Given the description of an element on the screen output the (x, y) to click on. 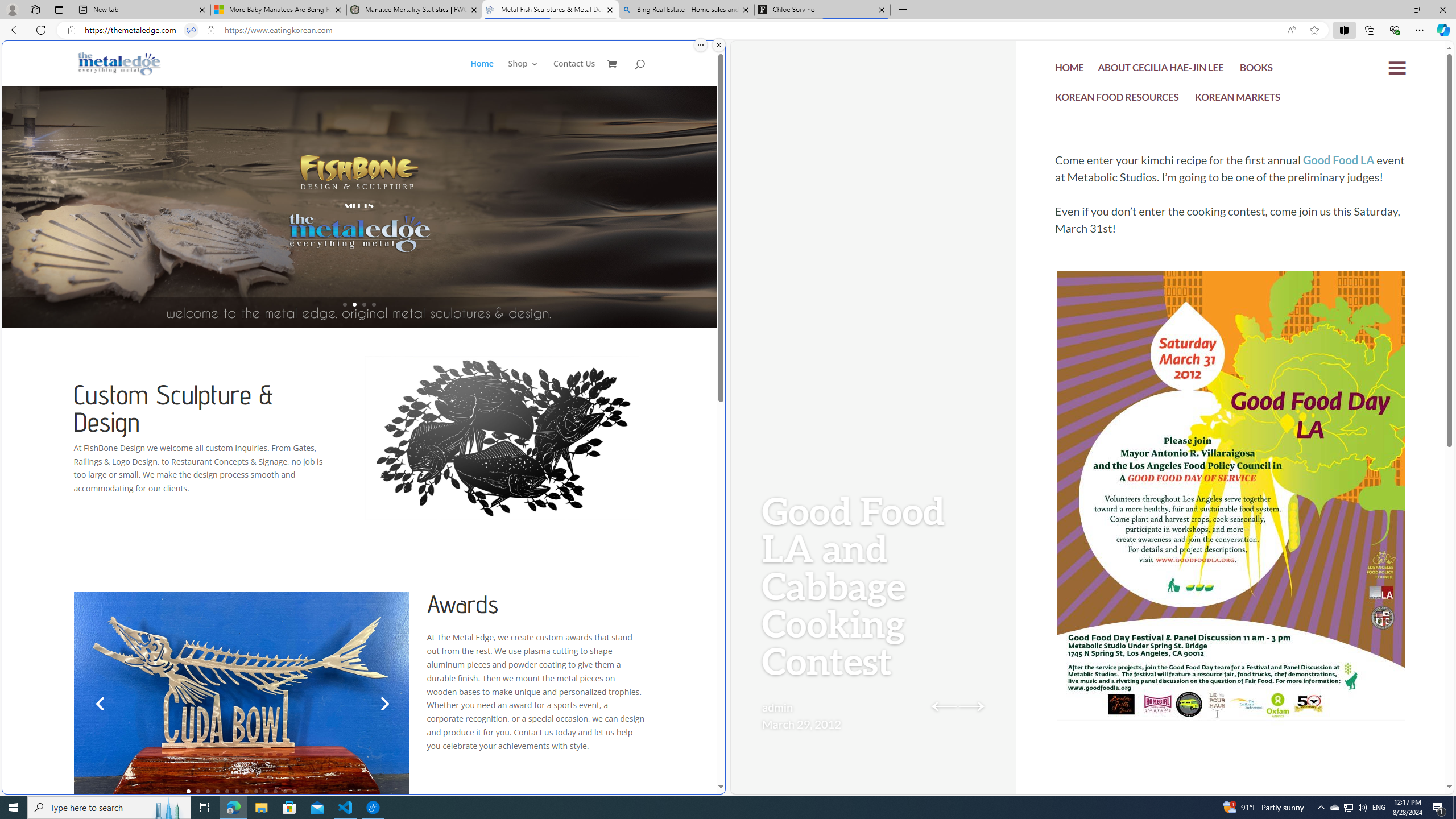
10 (275, 790)
Home (488, 72)
8 (255, 790)
admin (777, 707)
Contact Us (574, 72)
KOREAN FOOD RESOURCES (1117, 98)
Contact Us (574, 72)
Home (481, 72)
KOREAN MARKETS (1237, 99)
